Given the description of an element on the screen output the (x, y) to click on. 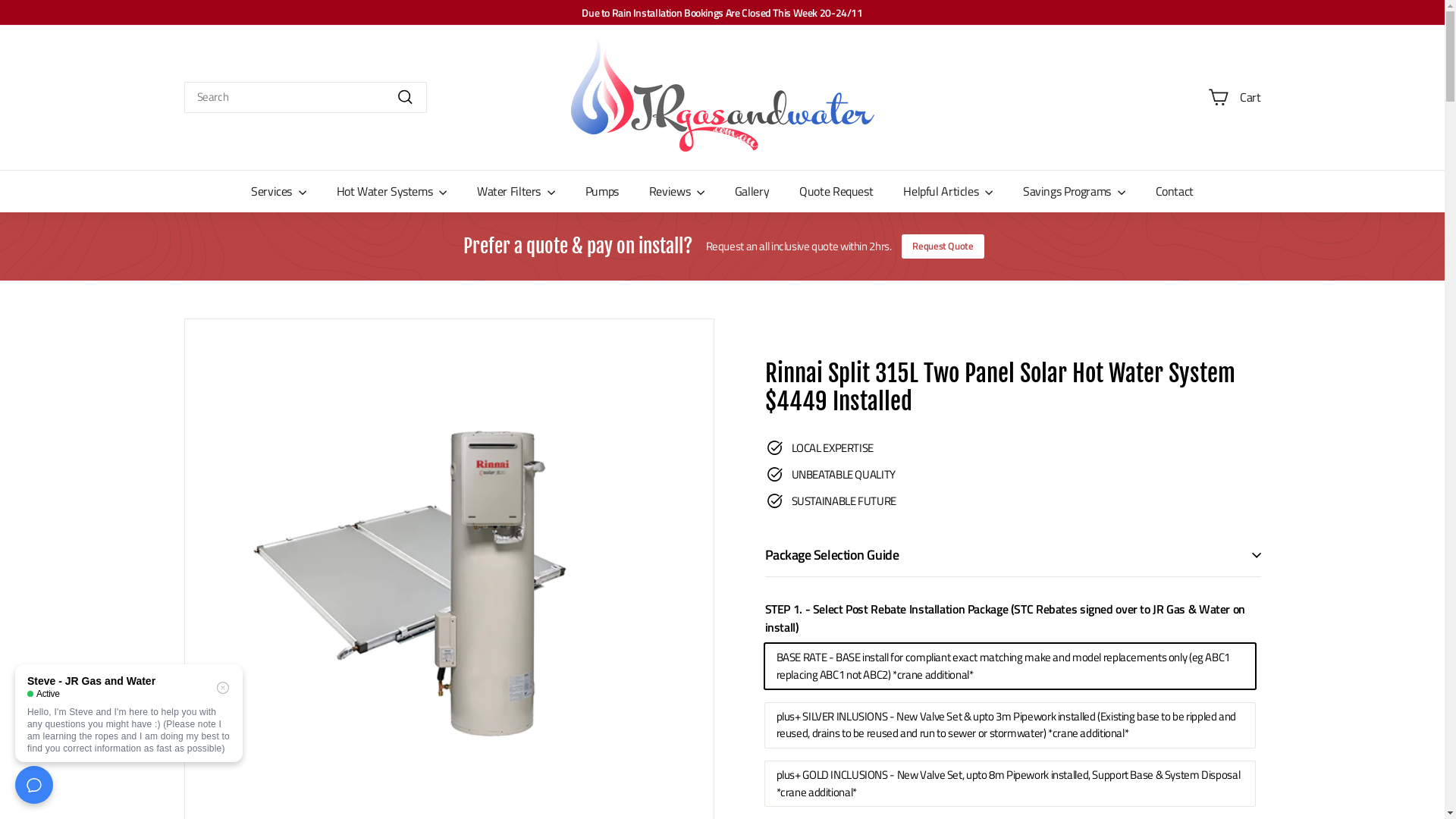
Gallery Element type: text (751, 190)
Pumps Element type: text (601, 190)
Quote Request Element type: text (836, 190)
Contact Element type: text (1174, 190)
Cart Element type: text (1234, 97)
Package Selection Guide Element type: text (1012, 555)
